Given the description of an element on the screen output the (x, y) to click on. 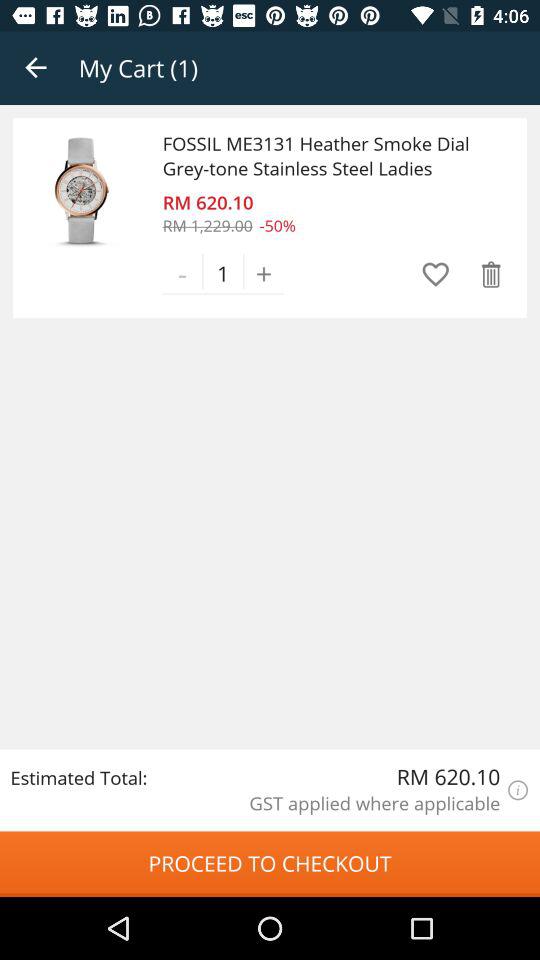
favorite it (435, 274)
